Given the description of an element on the screen output the (x, y) to click on. 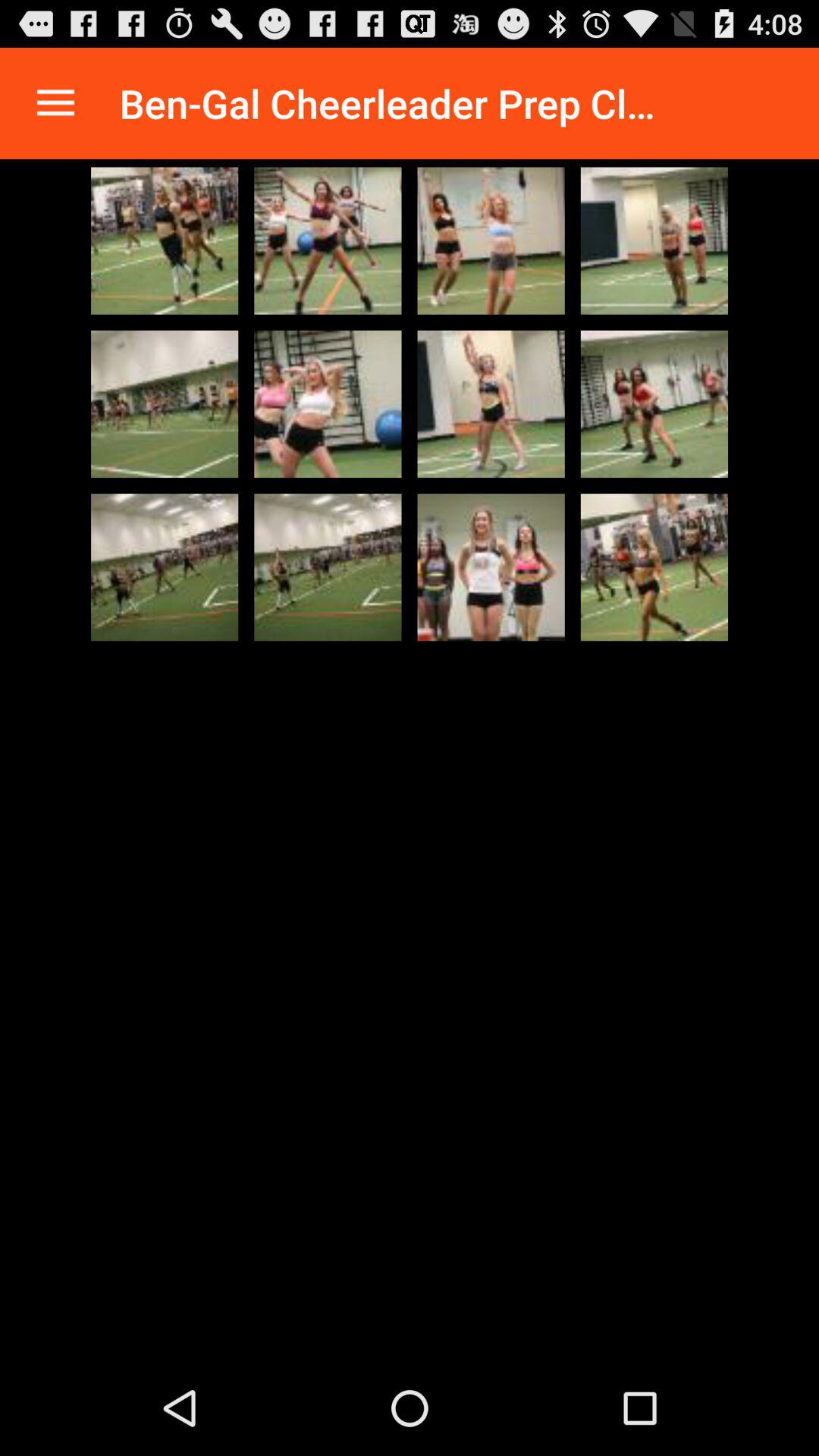
enlarge photo (490, 240)
